Given the description of an element on the screen output the (x, y) to click on. 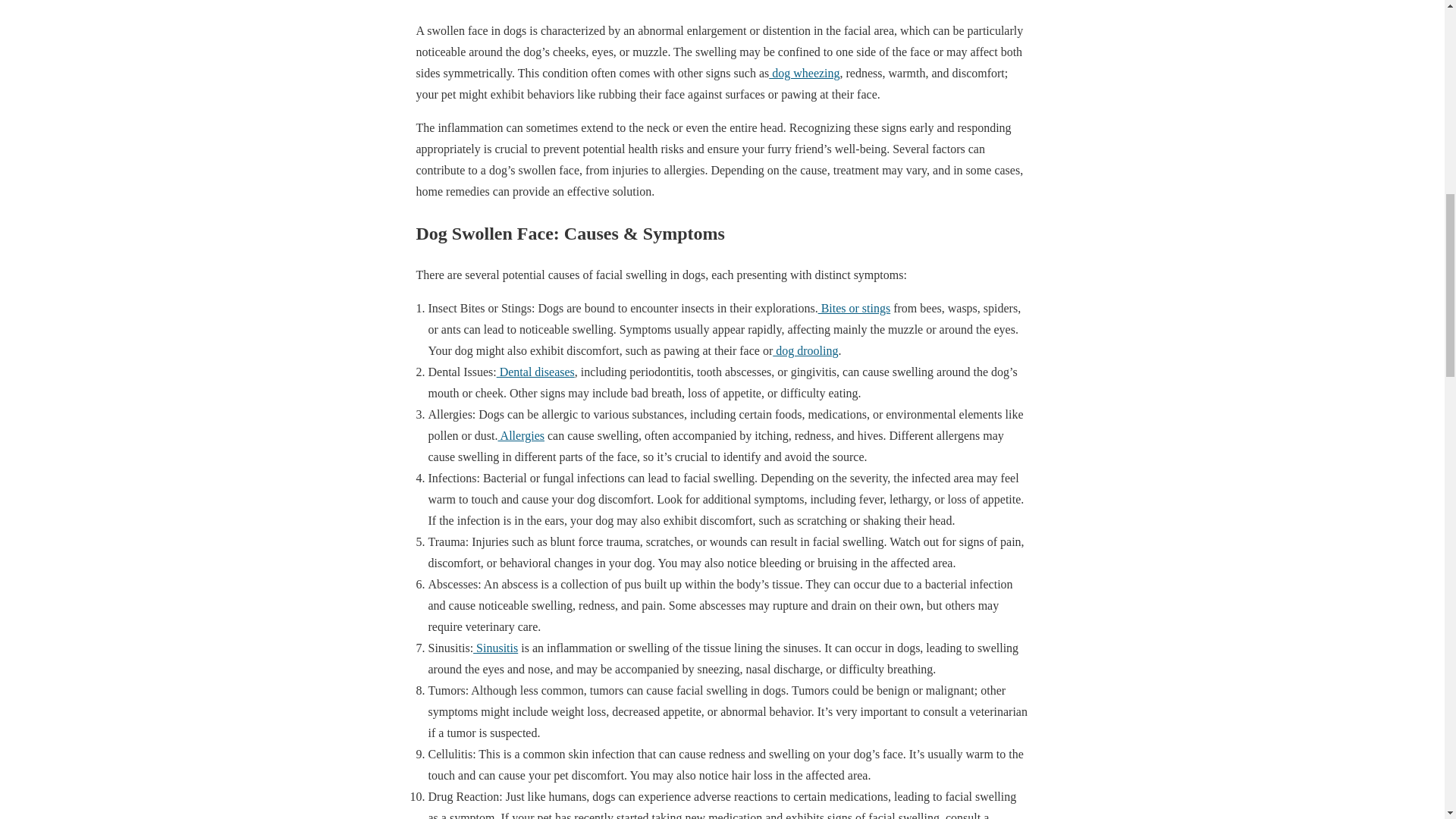
Allergies (520, 435)
dog wheezing (804, 72)
dog drooling (805, 350)
Dental diseases (535, 371)
Sinusitis (495, 647)
Bites or stings (854, 308)
